Given the description of an element on the screen output the (x, y) to click on. 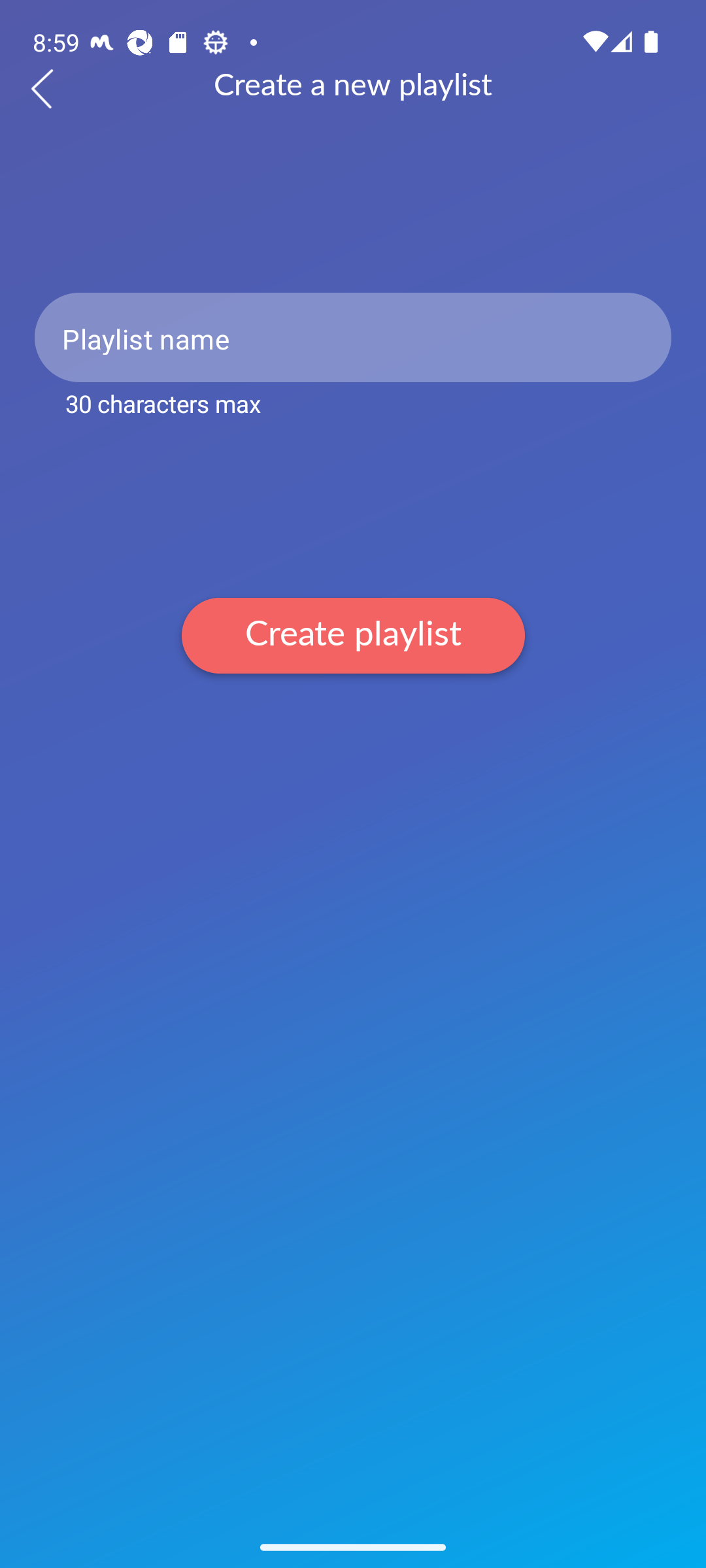
Playlist name (352, 337)
Create playlist (353, 634)
